Given the description of an element on the screen output the (x, y) to click on. 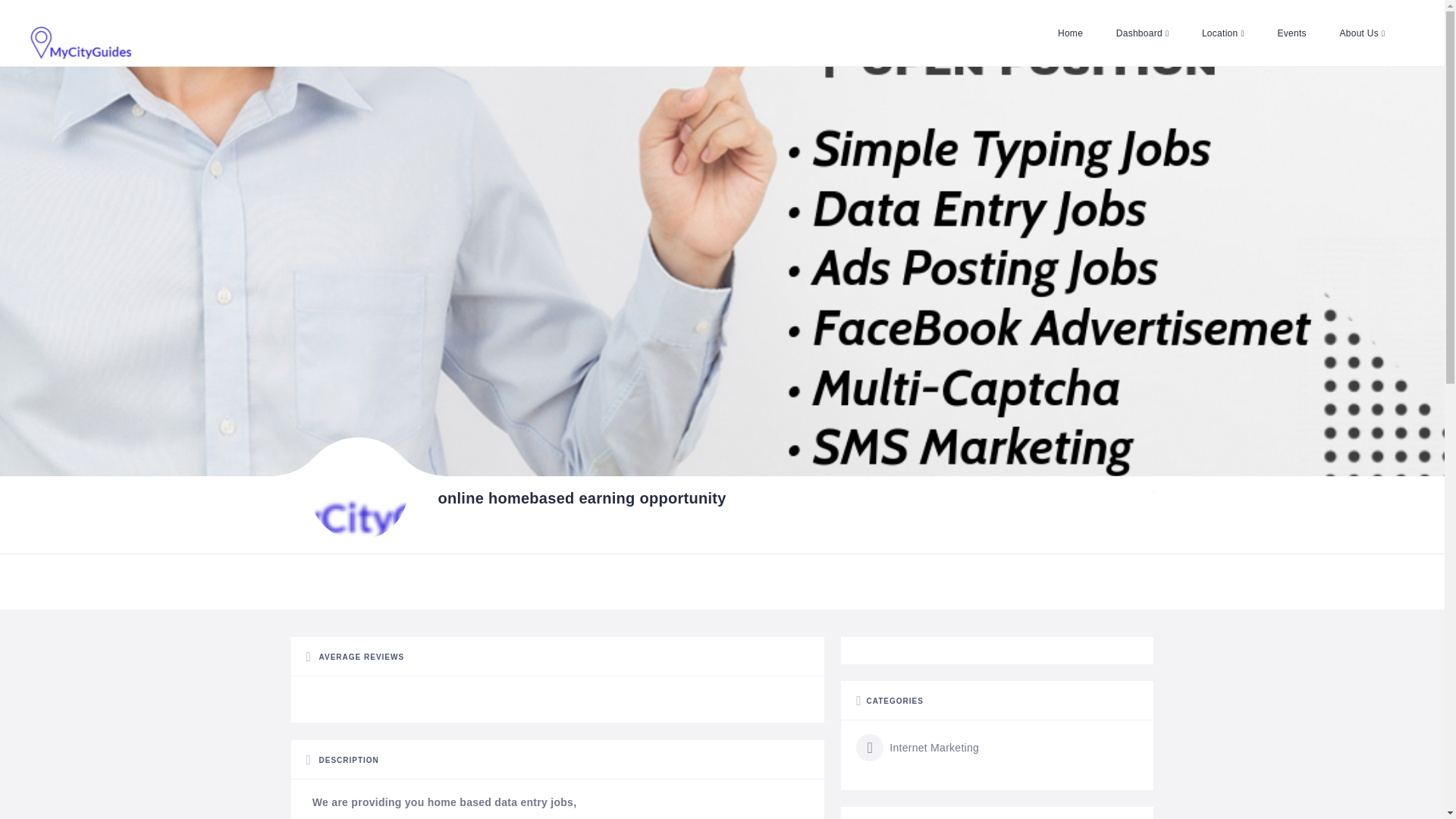
About Us (1361, 33)
Dashboard (1142, 33)
Internet Marketing (917, 747)
Location (1222, 33)
Internet Marketing (917, 747)
